Given the description of an element on the screen output the (x, y) to click on. 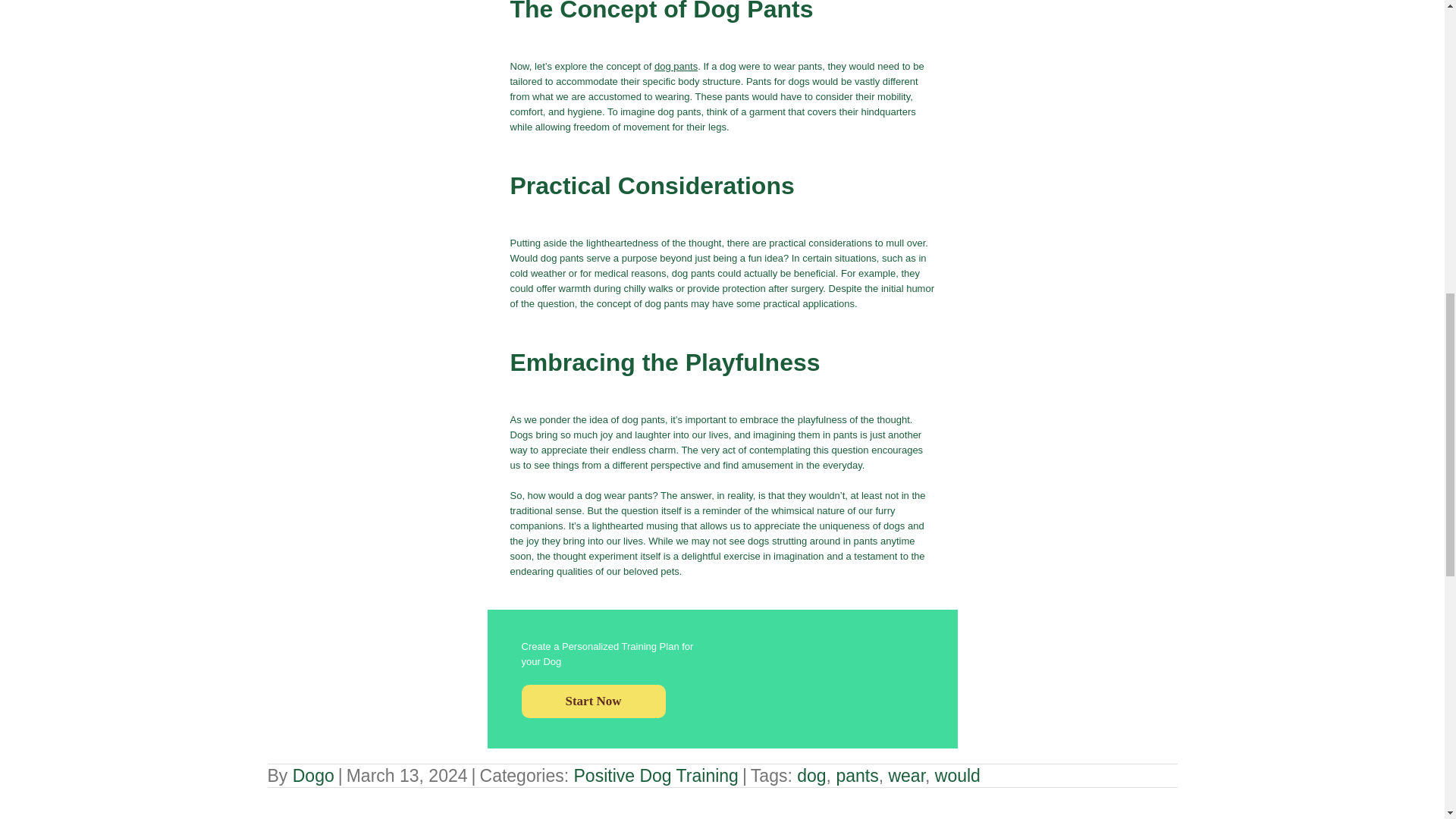
Posts by Dogo (313, 775)
How would a dog wear pants? (896, 644)
